Given the description of an element on the screen output the (x, y) to click on. 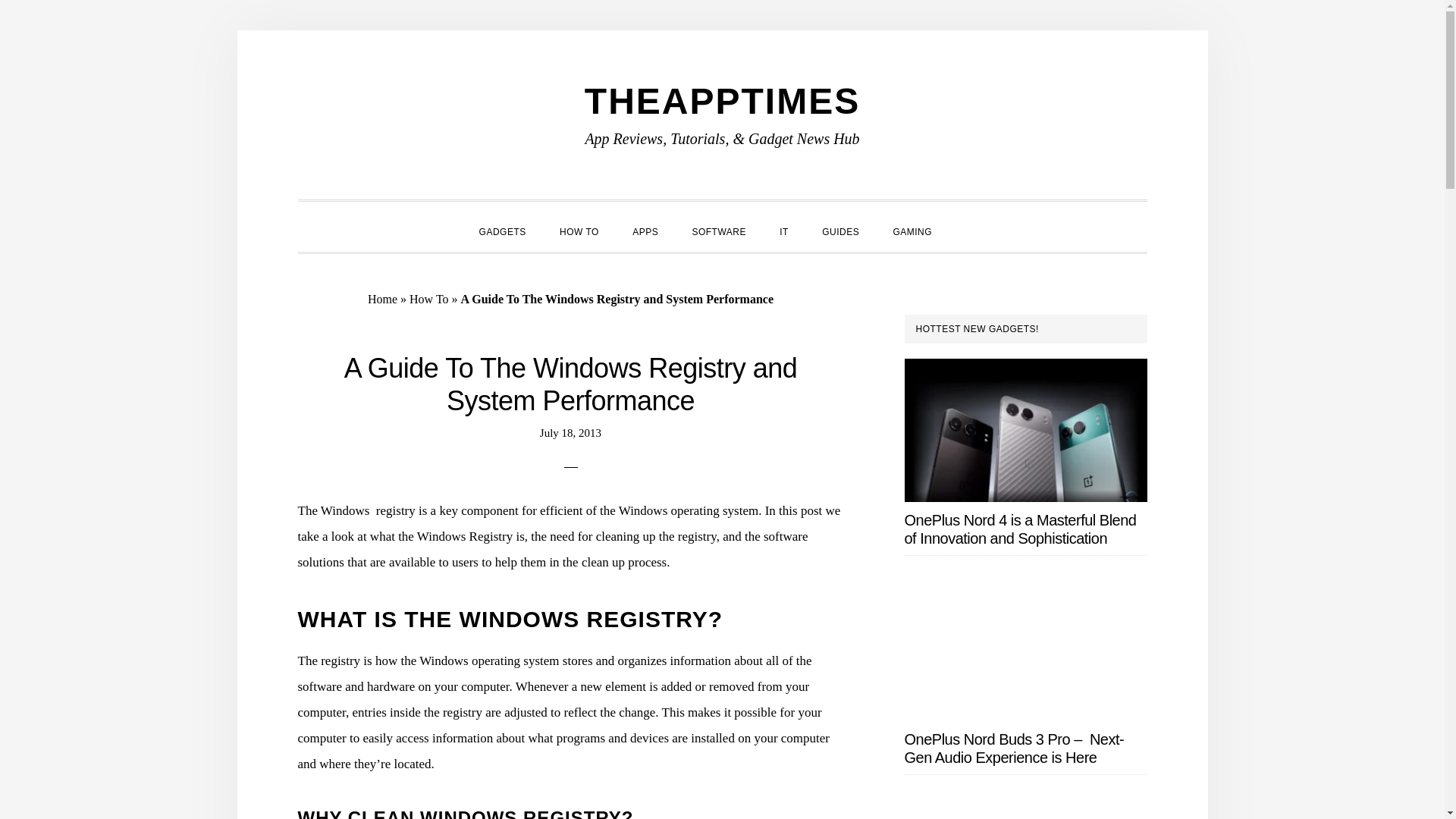
Home (382, 298)
How To (428, 298)
GUIDES (840, 230)
GAMING (912, 230)
APPS (644, 230)
THEAPPTIMES (722, 101)
SOFTWARE (719, 230)
SHOW SEARCH (964, 218)
GADGETS (502, 230)
IT (783, 230)
HOW TO (579, 230)
